Given the description of an element on the screen output the (x, y) to click on. 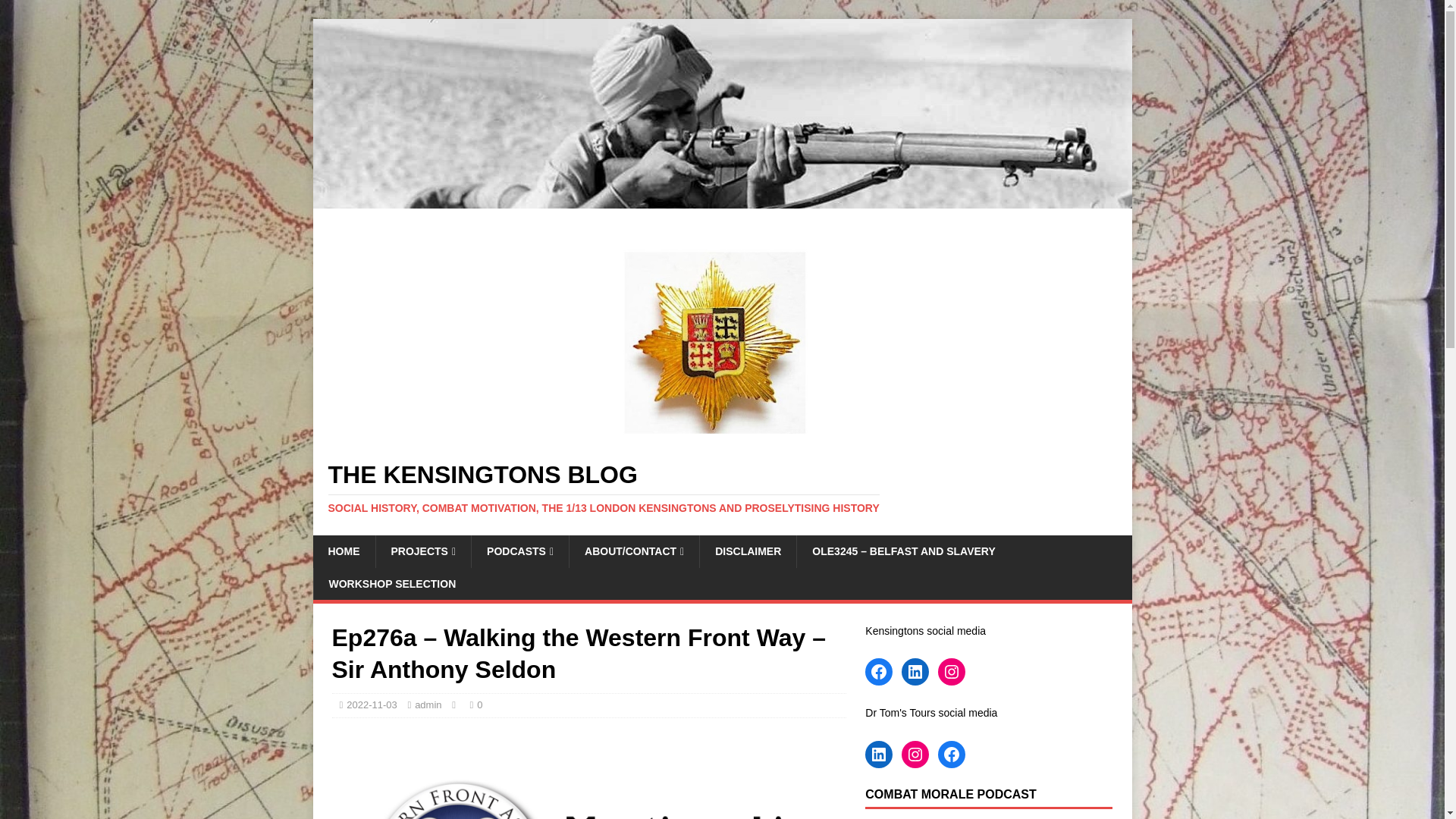
PROJECTS (422, 551)
The Kensingtons Blog (721, 488)
The Kensingtons Blog (722, 200)
HOME (343, 551)
PODCASTS (519, 551)
